Given the description of an element on the screen output the (x, y) to click on. 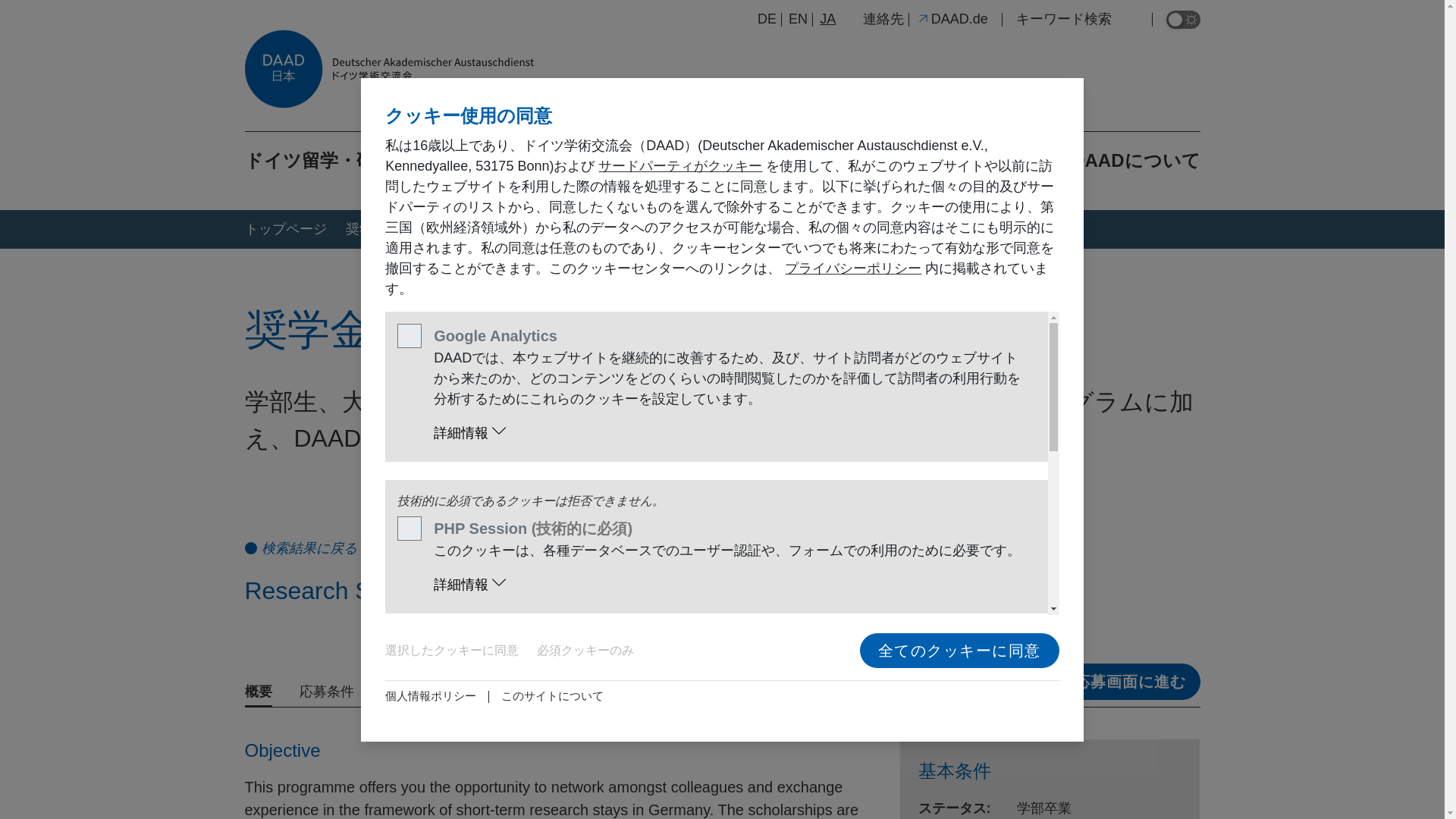
DAAD.de (951, 19)
EN (798, 19)
DE (766, 19)
